Given the description of an element on the screen output the (x, y) to click on. 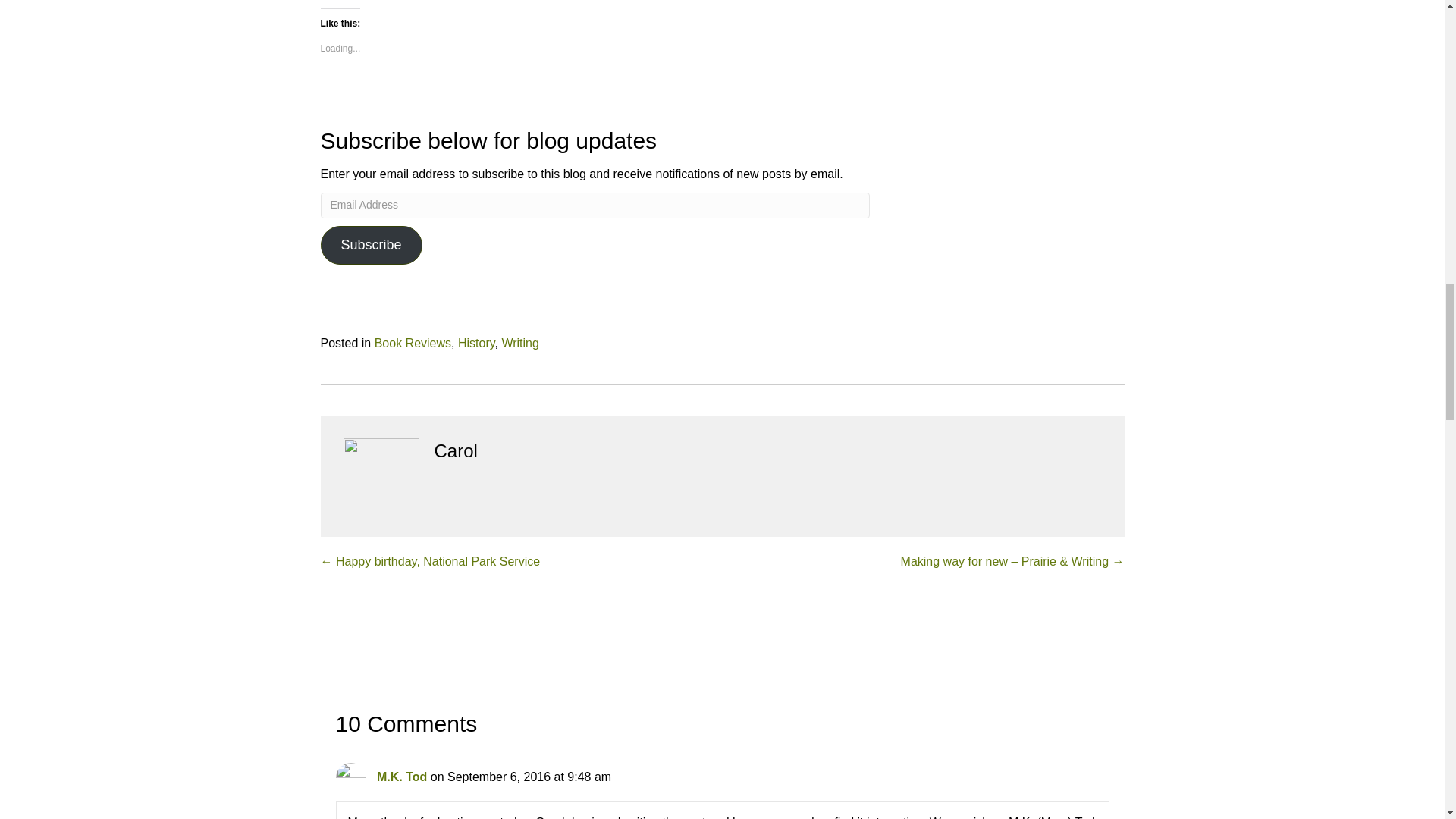
M.K. Tod (401, 776)
Subscribe (371, 245)
Book Reviews (412, 342)
Writing (519, 342)
History (476, 342)
